Given the description of an element on the screen output the (x, y) to click on. 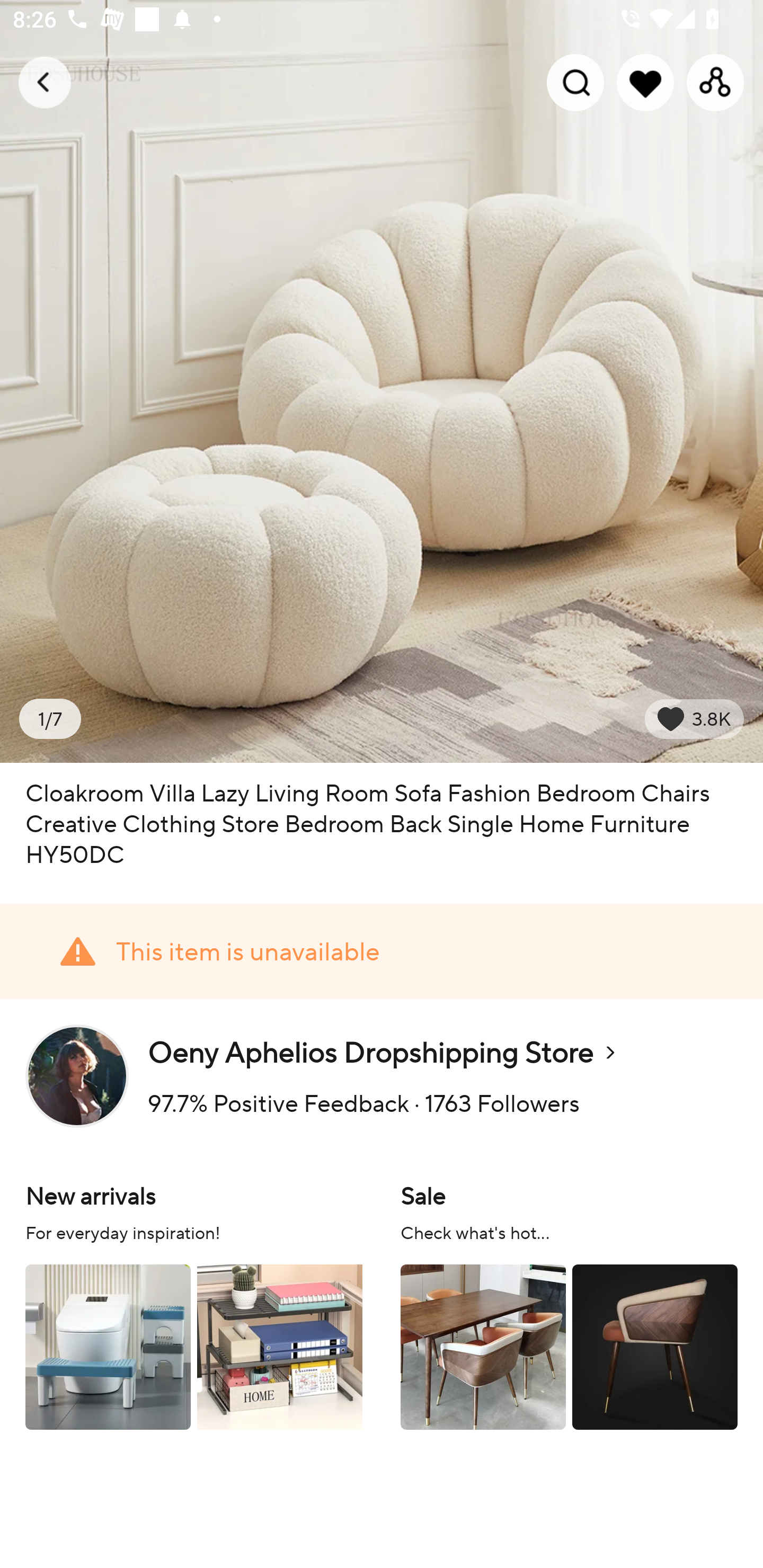
Navigate up (44, 82)
wish state 3.8K (693, 718)
New arrivals For everyday inspiration!  (193, 1304)
Sale Check what's hot... (568, 1304)
